Given the description of an element on the screen output the (x, y) to click on. 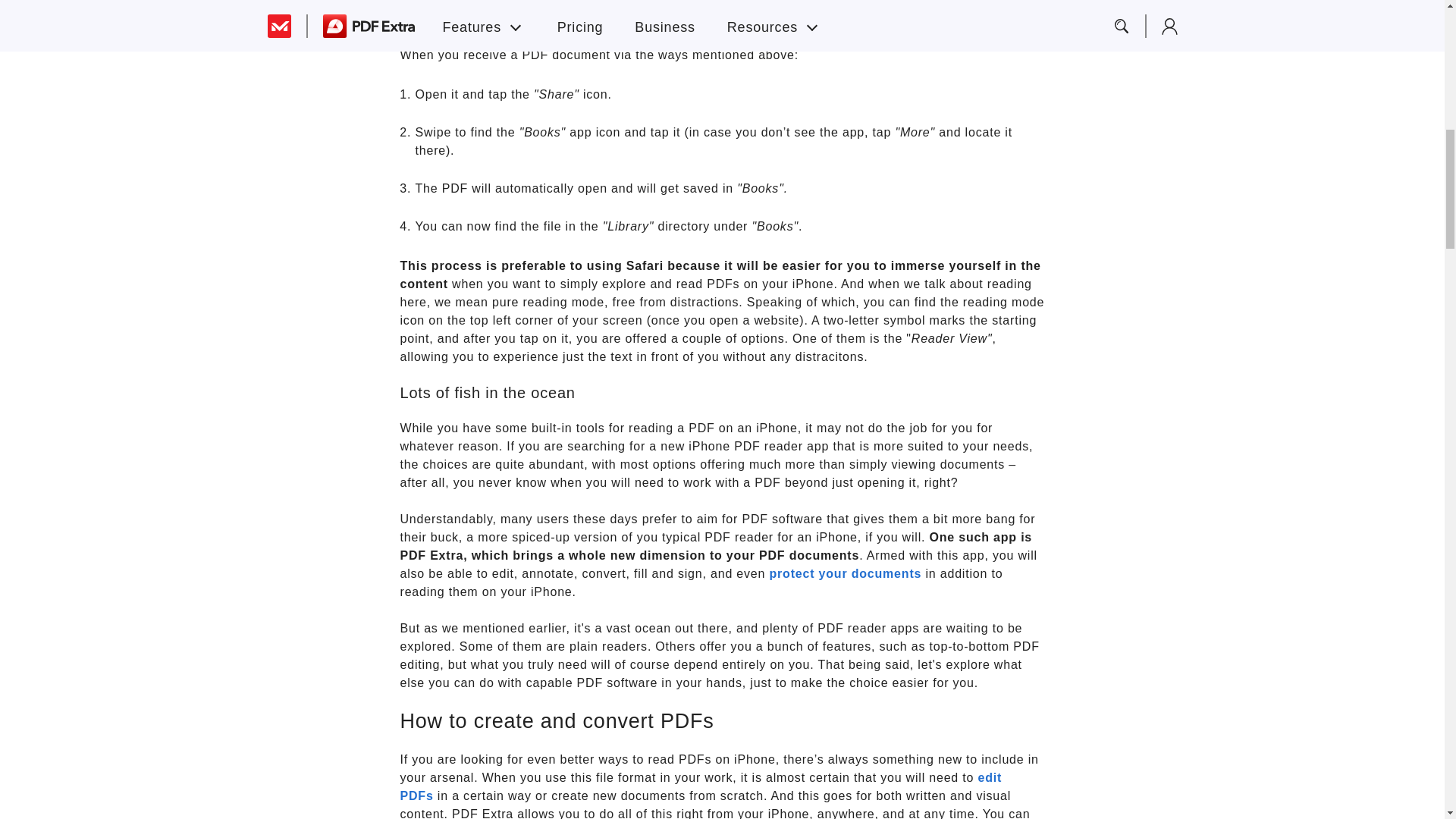
protect your documents (844, 573)
edit PDFs (701, 785)
